Given the description of an element on the screen output the (x, y) to click on. 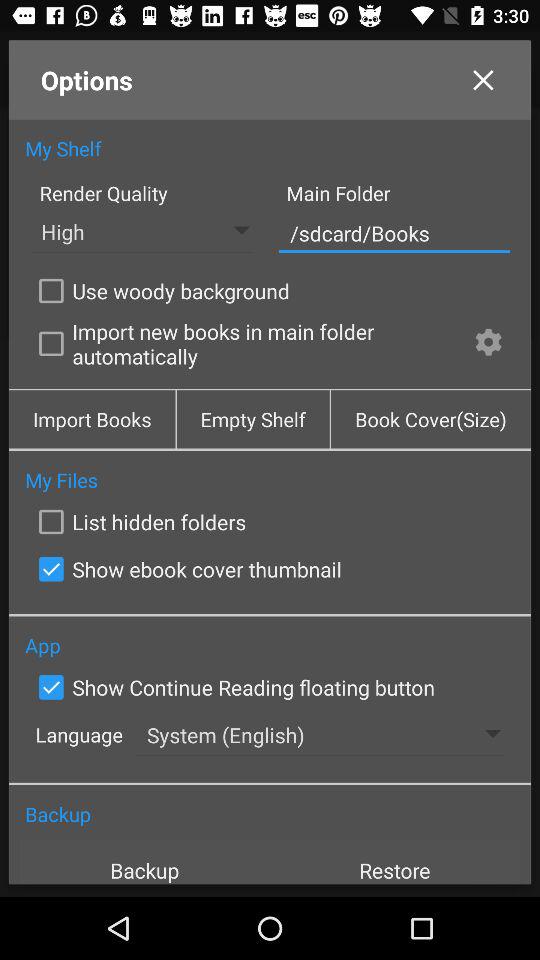
click the checkbox next to import new books item (488, 344)
